Given the description of an element on the screen output the (x, y) to click on. 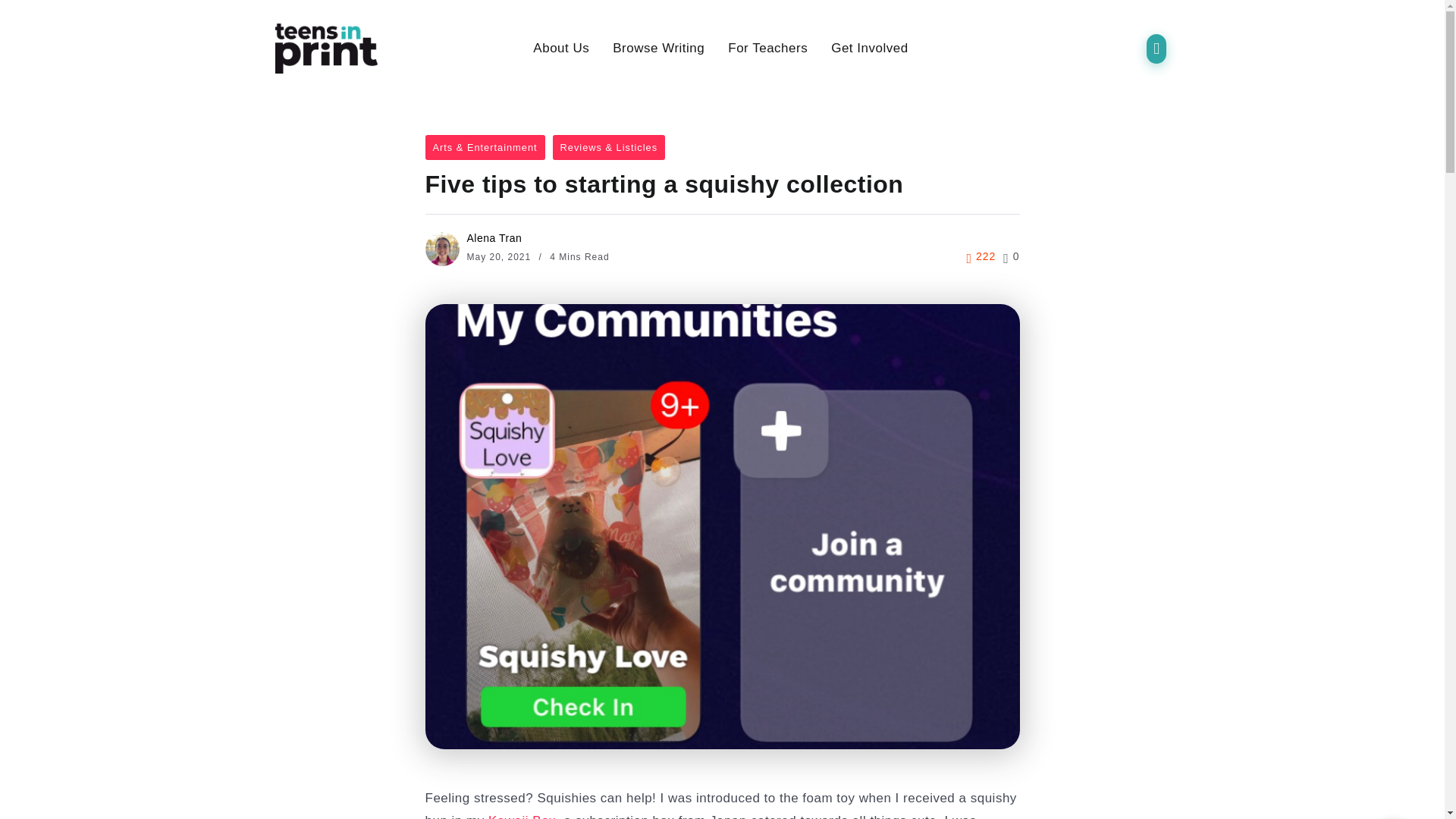
Views (980, 256)
comments (1011, 256)
Teens in Print (326, 47)
